Given the description of an element on the screen output the (x, y) to click on. 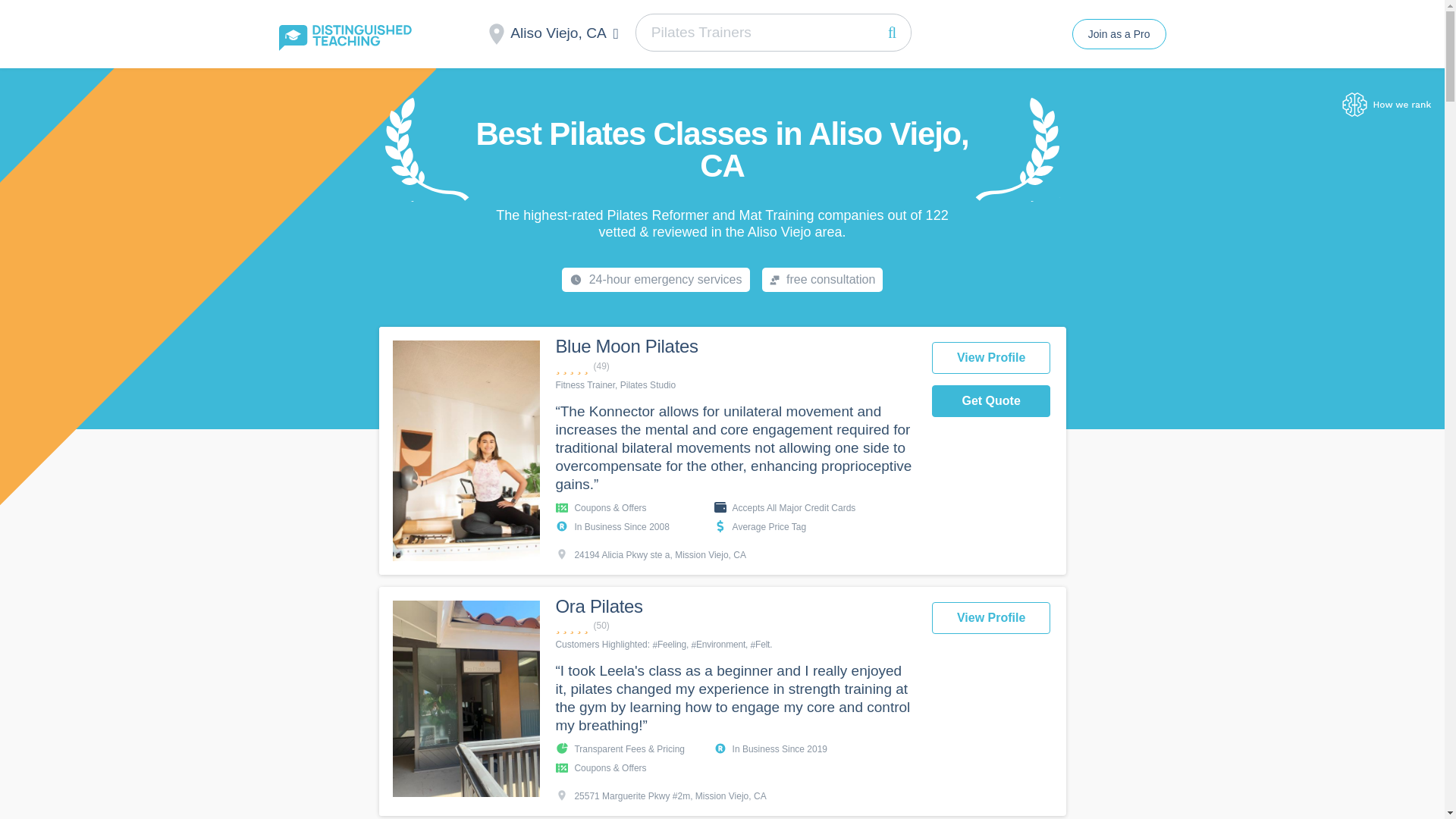
5.0 (734, 626)
Get Quote (991, 400)
5.0 (734, 366)
Search (892, 32)
24-hour emergency services (655, 279)
Search (892, 32)
Search (892, 32)
Join as a Pro (1118, 33)
free consultation (821, 279)
